Given the description of an element on the screen output the (x, y) to click on. 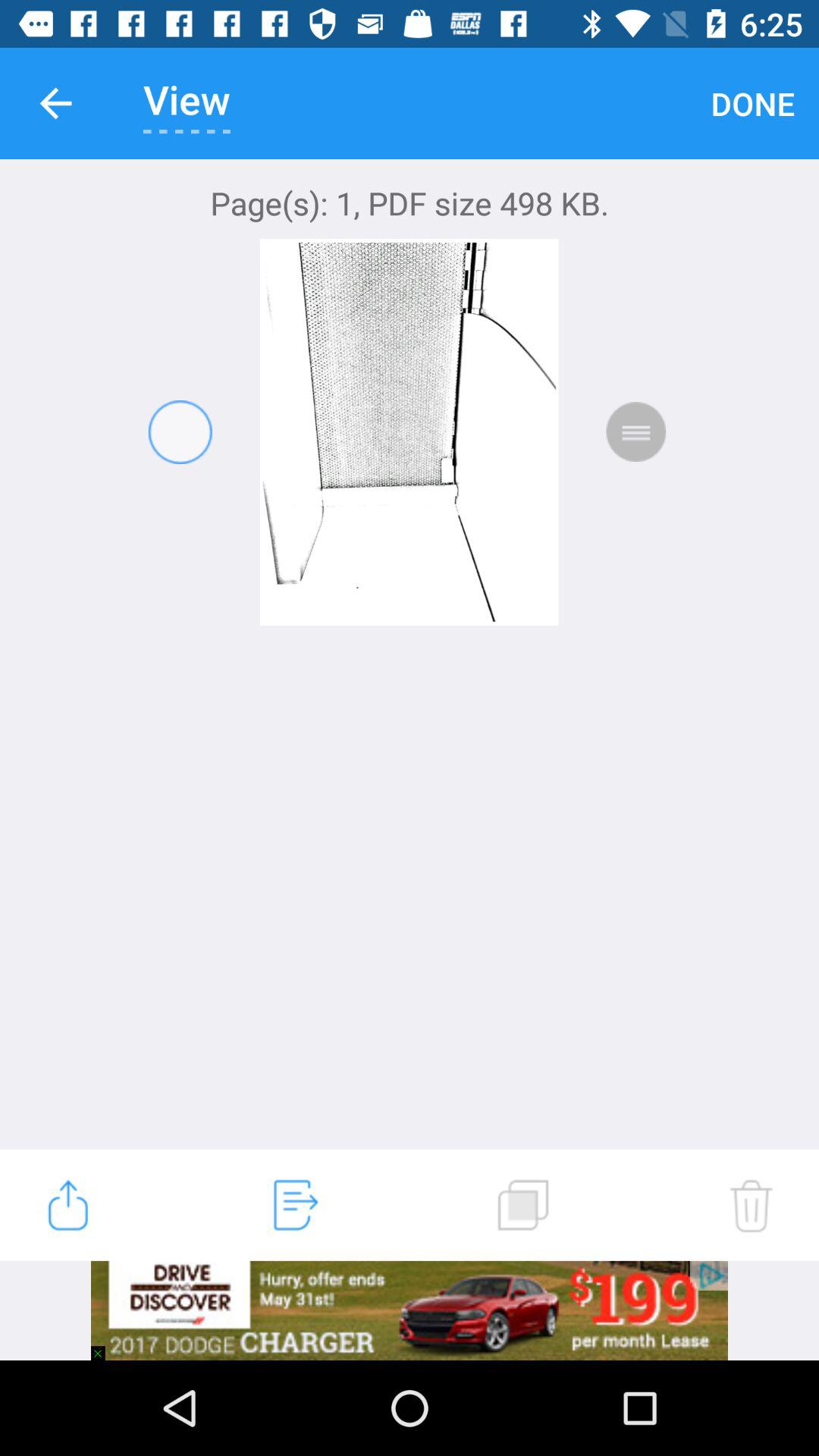
tap the icon to the left of view icon (55, 103)
